Given the description of an element on the screen output the (x, y) to click on. 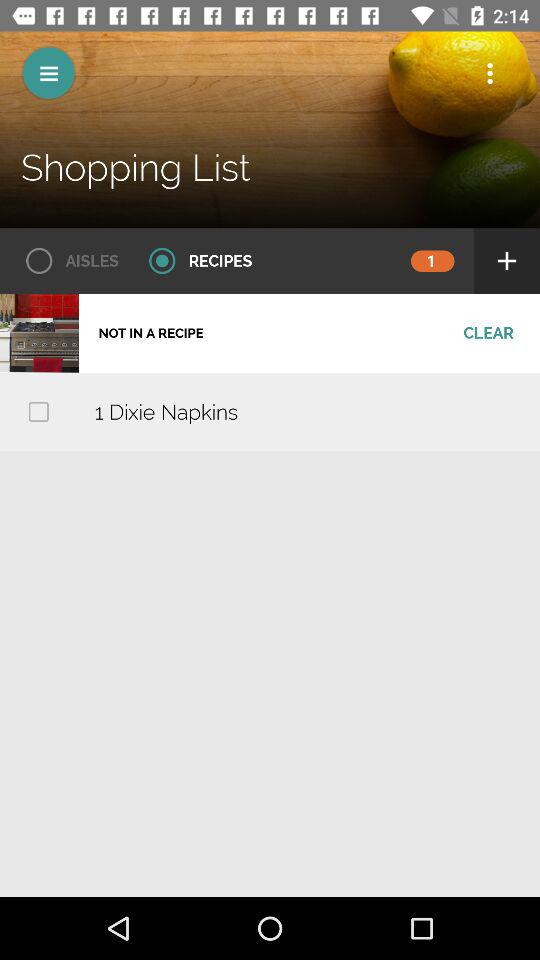
show menu (48, 72)
